Given the description of an element on the screen output the (x, y) to click on. 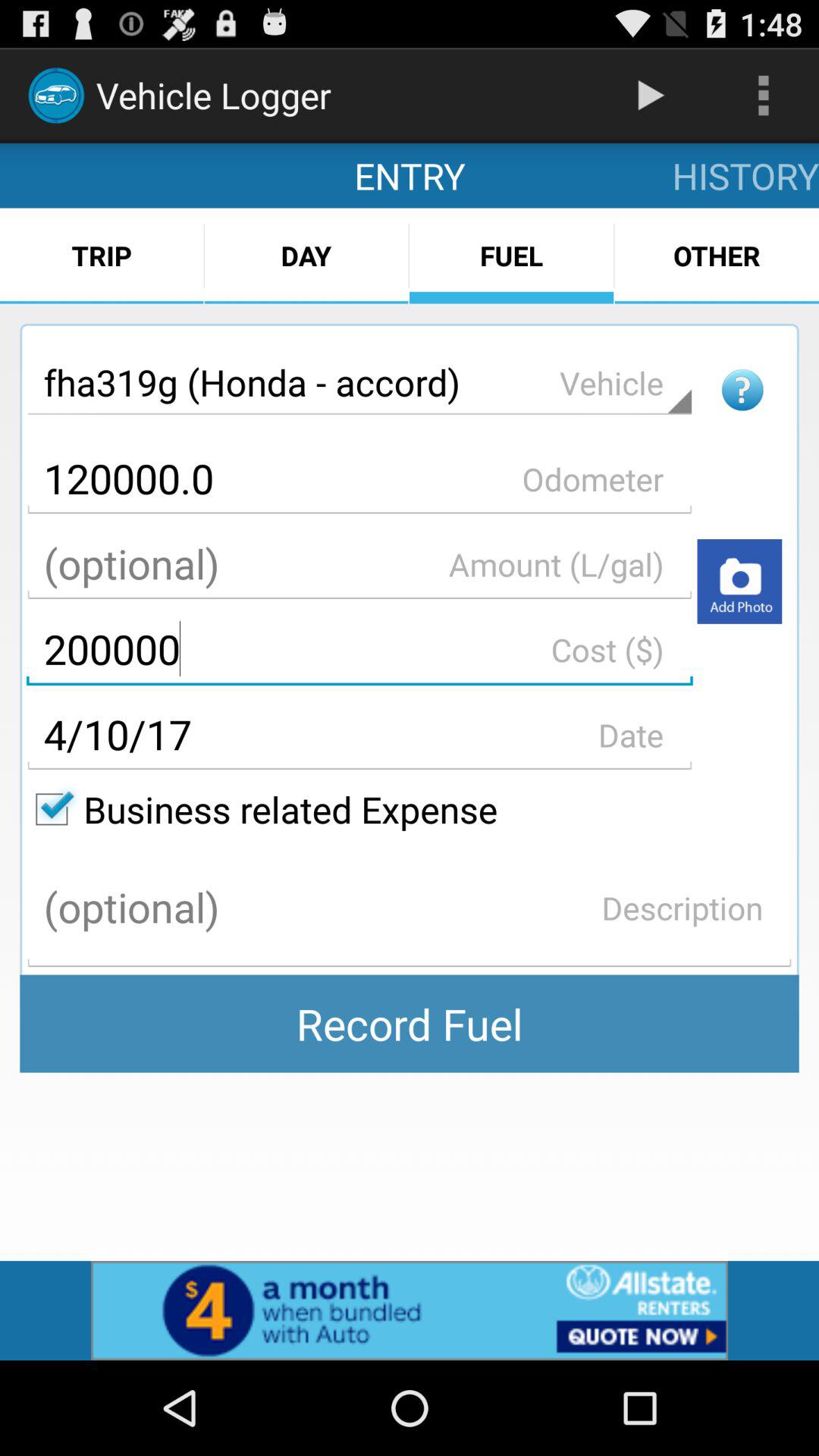
go to play (739, 580)
